Given the description of an element on the screen output the (x, y) to click on. 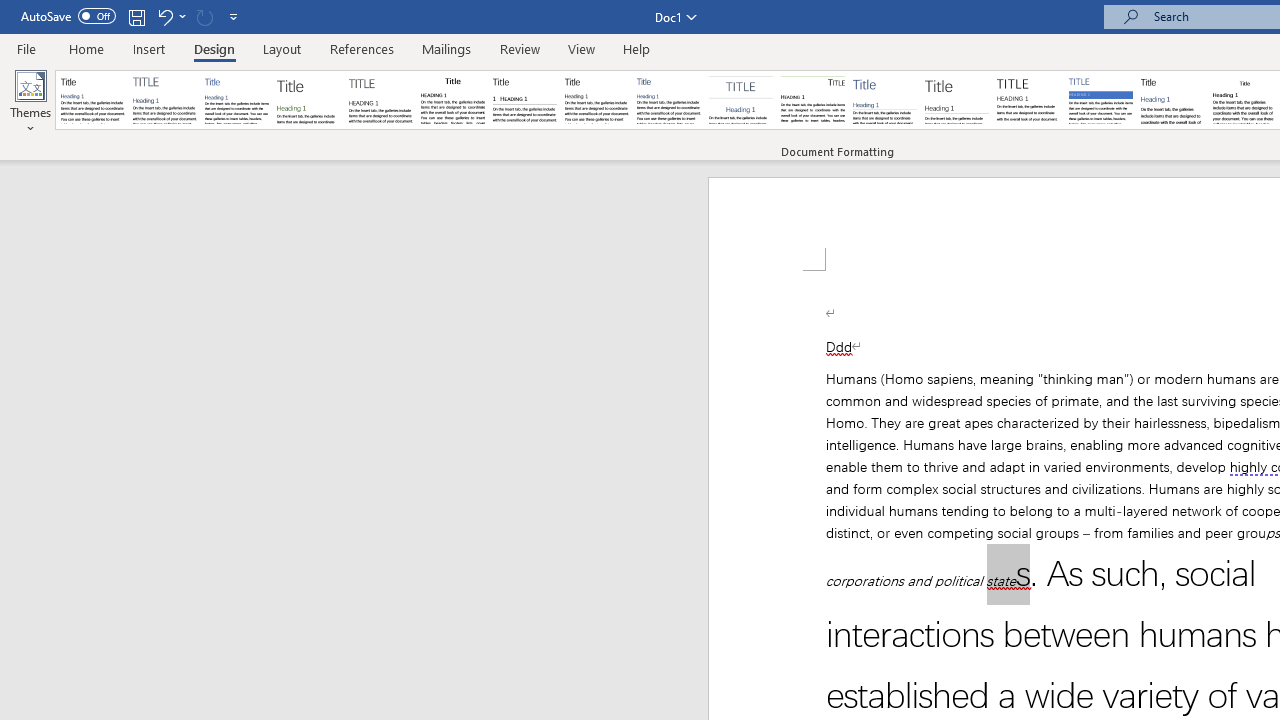
Themes (30, 102)
Document (93, 100)
Word (1172, 100)
Lines (Stylish) (957, 100)
Black & White (Capitalized) (381, 100)
Basic (Simple) (236, 100)
Lines (Simple) (884, 100)
Casual (669, 100)
Undo Apply Quick Style Set (170, 15)
